Given the description of an element on the screen output the (x, y) to click on. 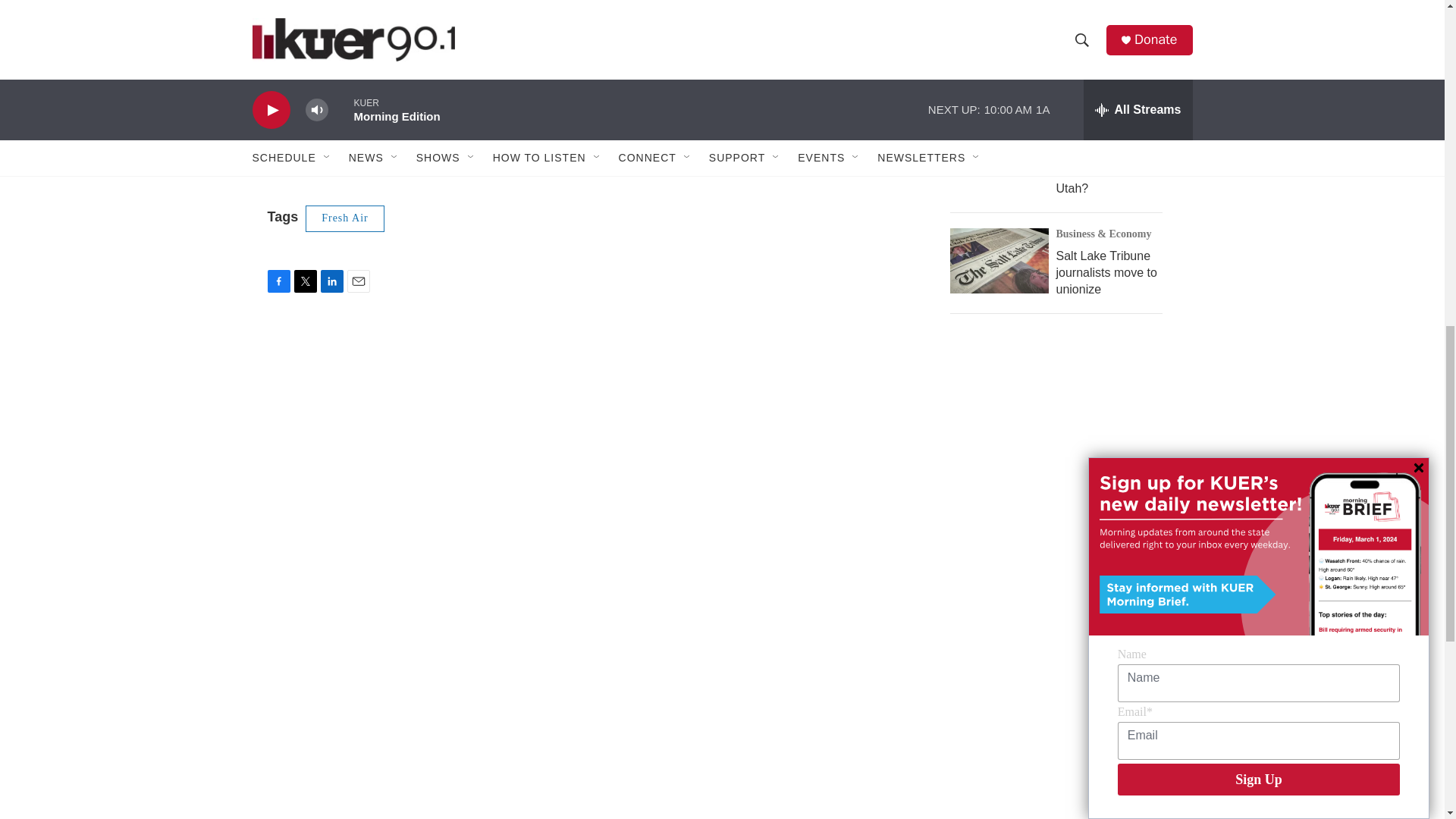
3rd party ad content (1062, 457)
3rd party ad content (1062, 696)
